Given the description of an element on the screen output the (x, y) to click on. 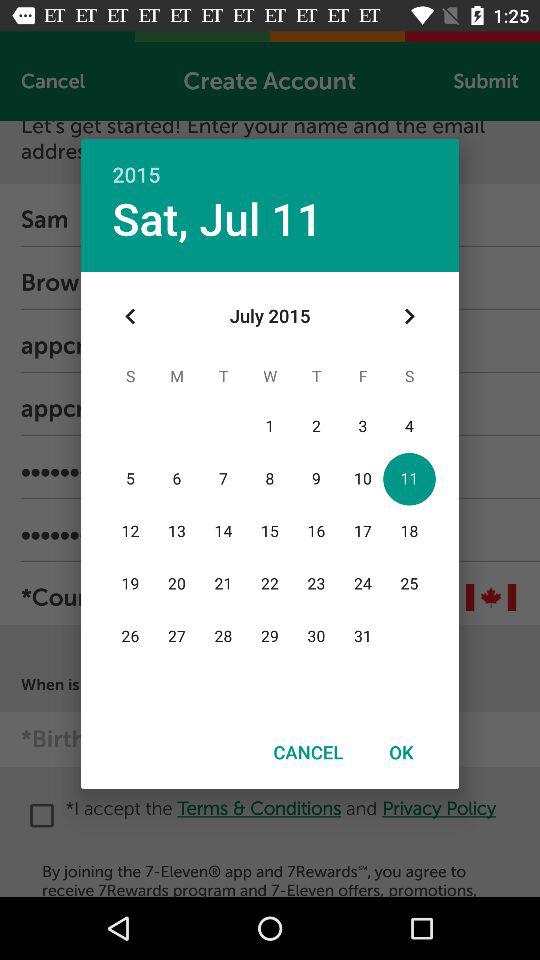
tap item below sat, jul 11 item (130, 316)
